Given the description of an element on the screen output the (x, y) to click on. 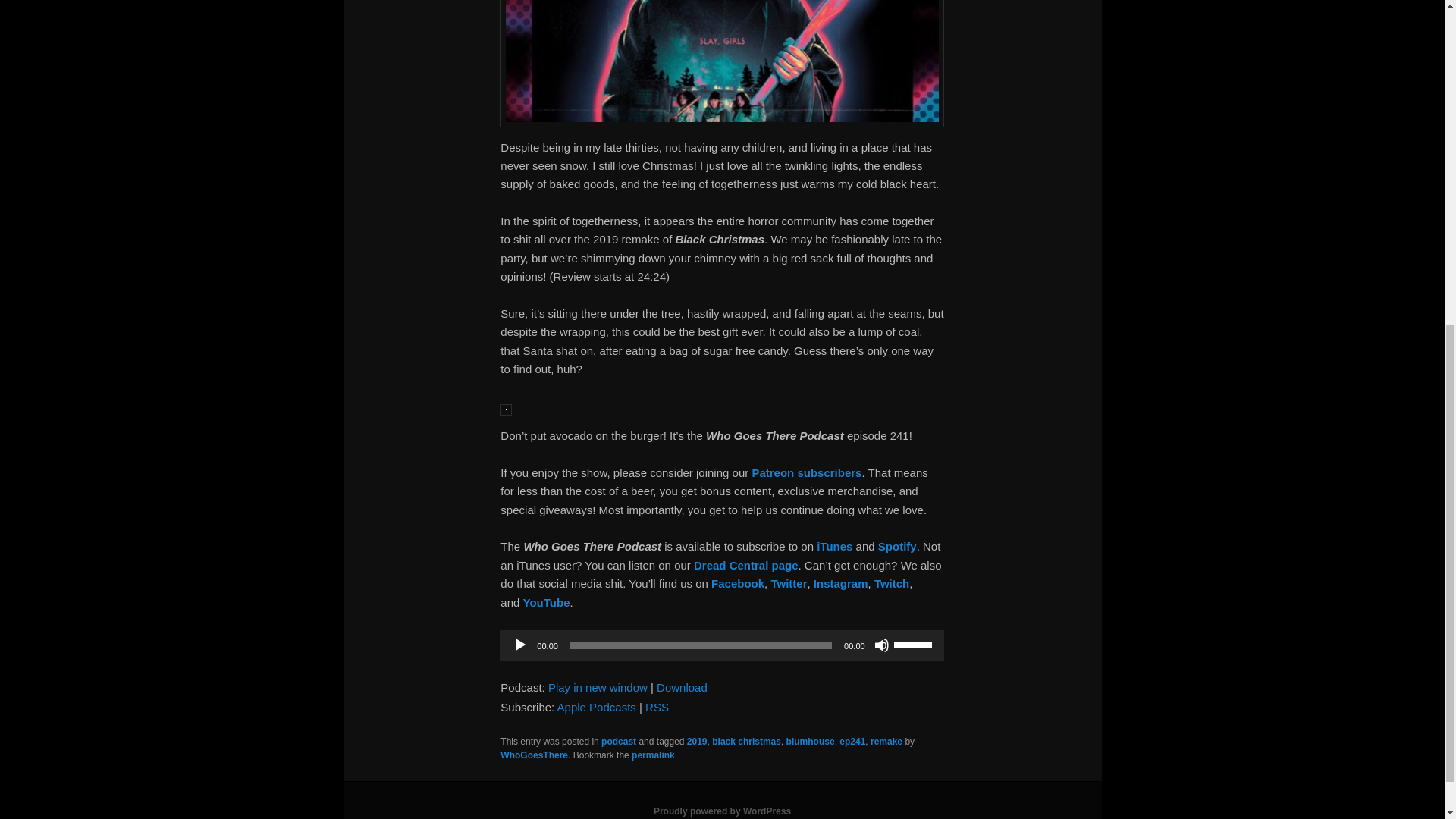
Dread Central page (745, 564)
Apple Podcasts (596, 707)
Play in new window (597, 686)
podcast (618, 741)
Play (519, 645)
black christmas (745, 741)
YouTube (546, 602)
Download (681, 686)
Twitch (891, 583)
Download (681, 686)
